Given the description of an element on the screen output the (x, y) to click on. 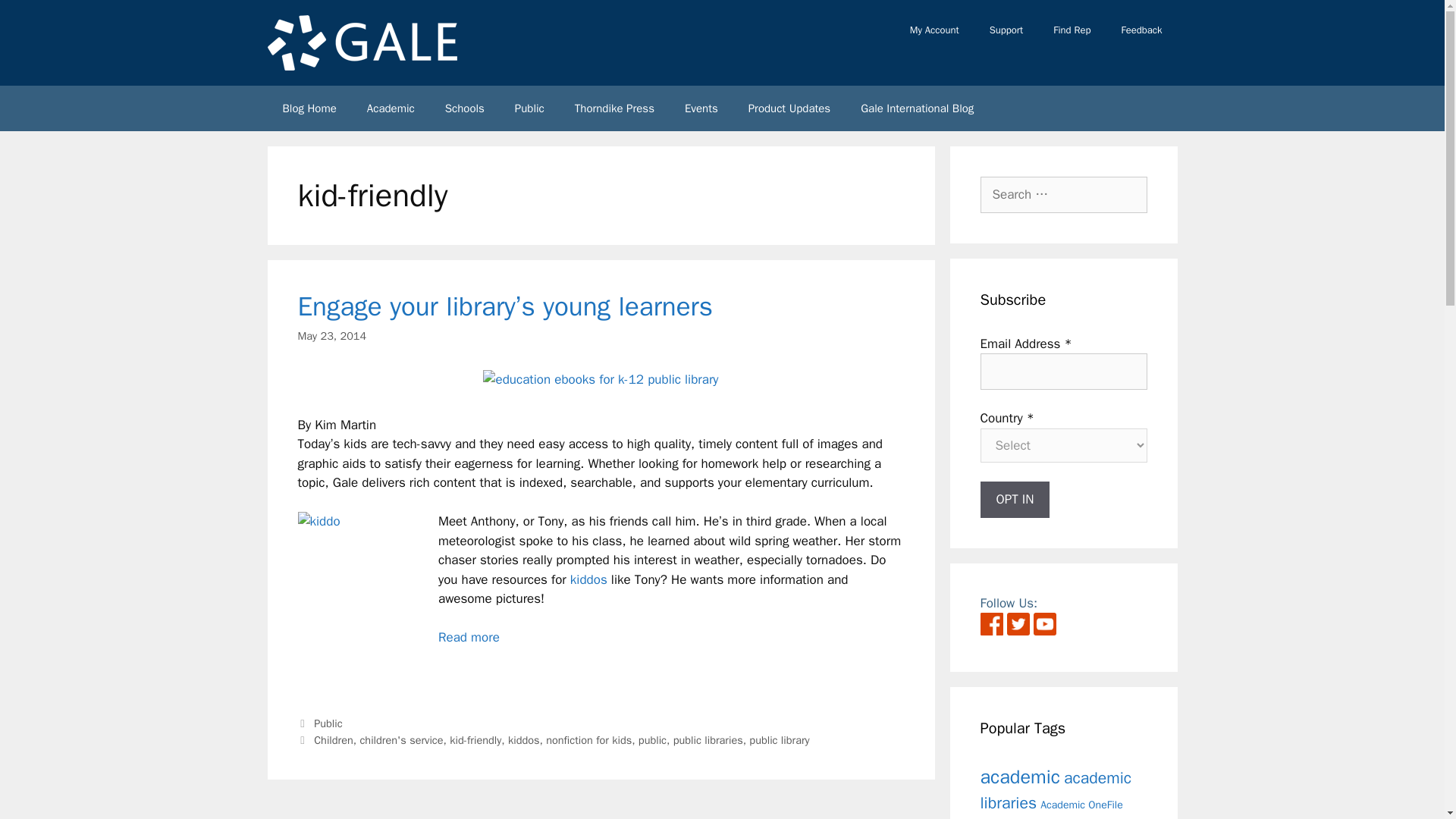
Find Rep (1071, 30)
nonfiction for kids (588, 739)
Support (1006, 30)
Children (333, 739)
Academic OneFile (1081, 804)
OPT IN (1014, 499)
kiddos (524, 739)
Search for: (1063, 194)
Gale International Blog (916, 108)
Academic (390, 108)
